Given the description of an element on the screen output the (x, y) to click on. 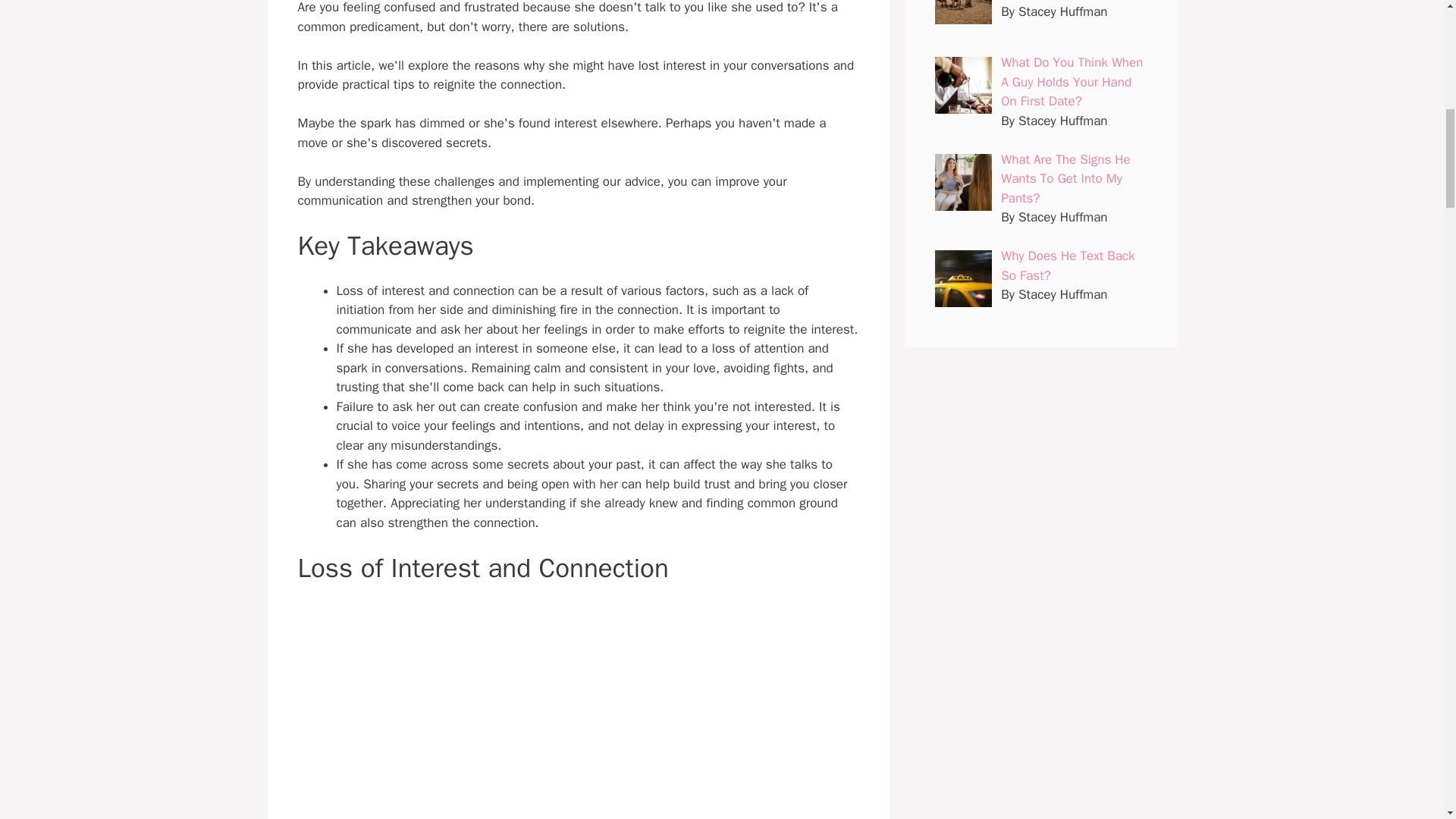
What Are The Signs He Wants To Get Into My Pants? (1065, 178)
YouTube video player (578, 710)
Why Does He Text Back So Fast? (1067, 265)
What Do You Think When A Guy Holds Your Hand On First Date? (1071, 81)
